Given the description of an element on the screen output the (x, y) to click on. 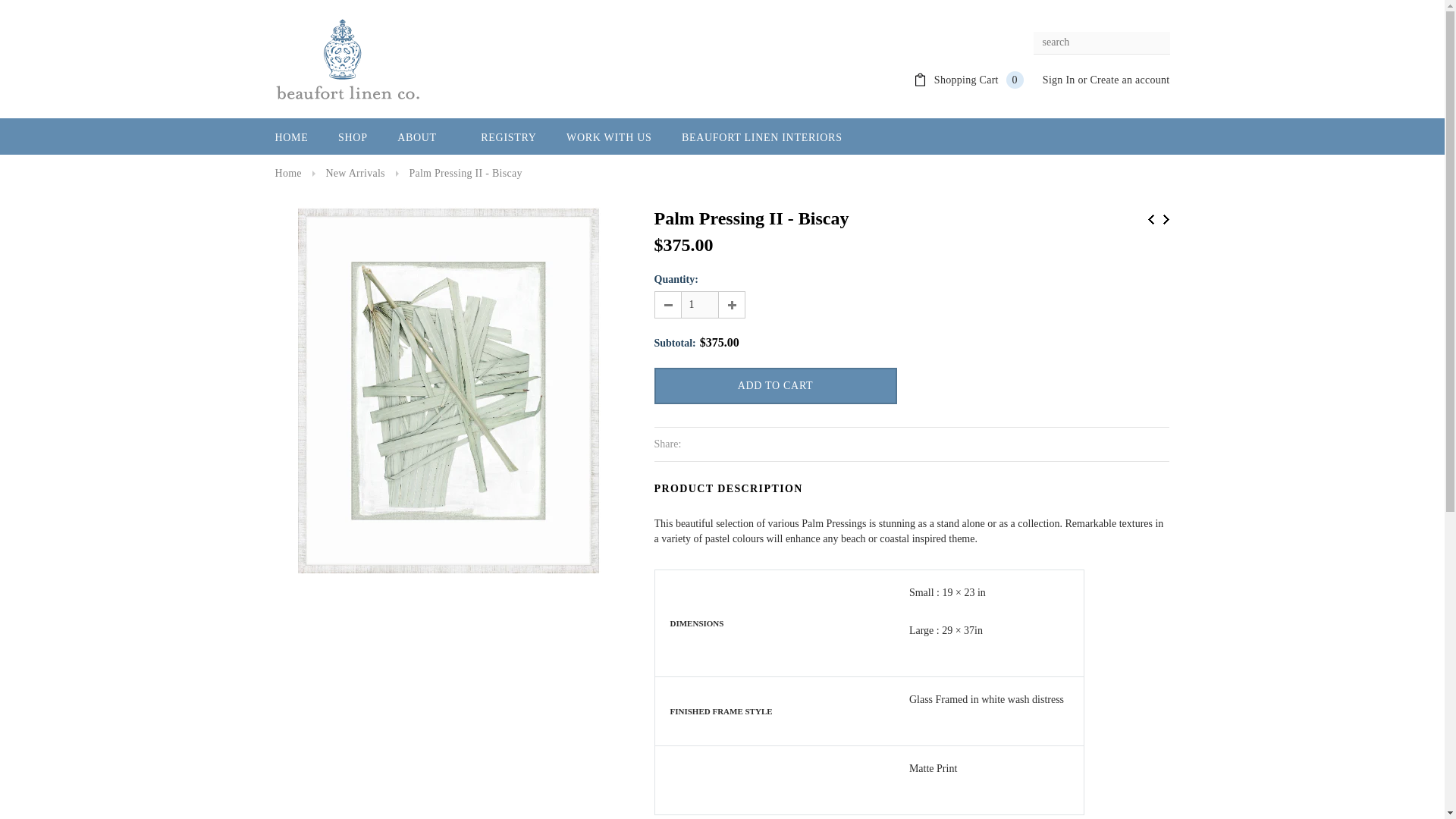
Add to Cart (774, 385)
Shopping Cart 0 (978, 79)
SHOP (352, 137)
HOME (291, 137)
ABOUT (424, 137)
Sign In (1058, 79)
1 (700, 304)
REGISTRY (507, 137)
Create an account (1129, 79)
